Given the description of an element on the screen output the (x, y) to click on. 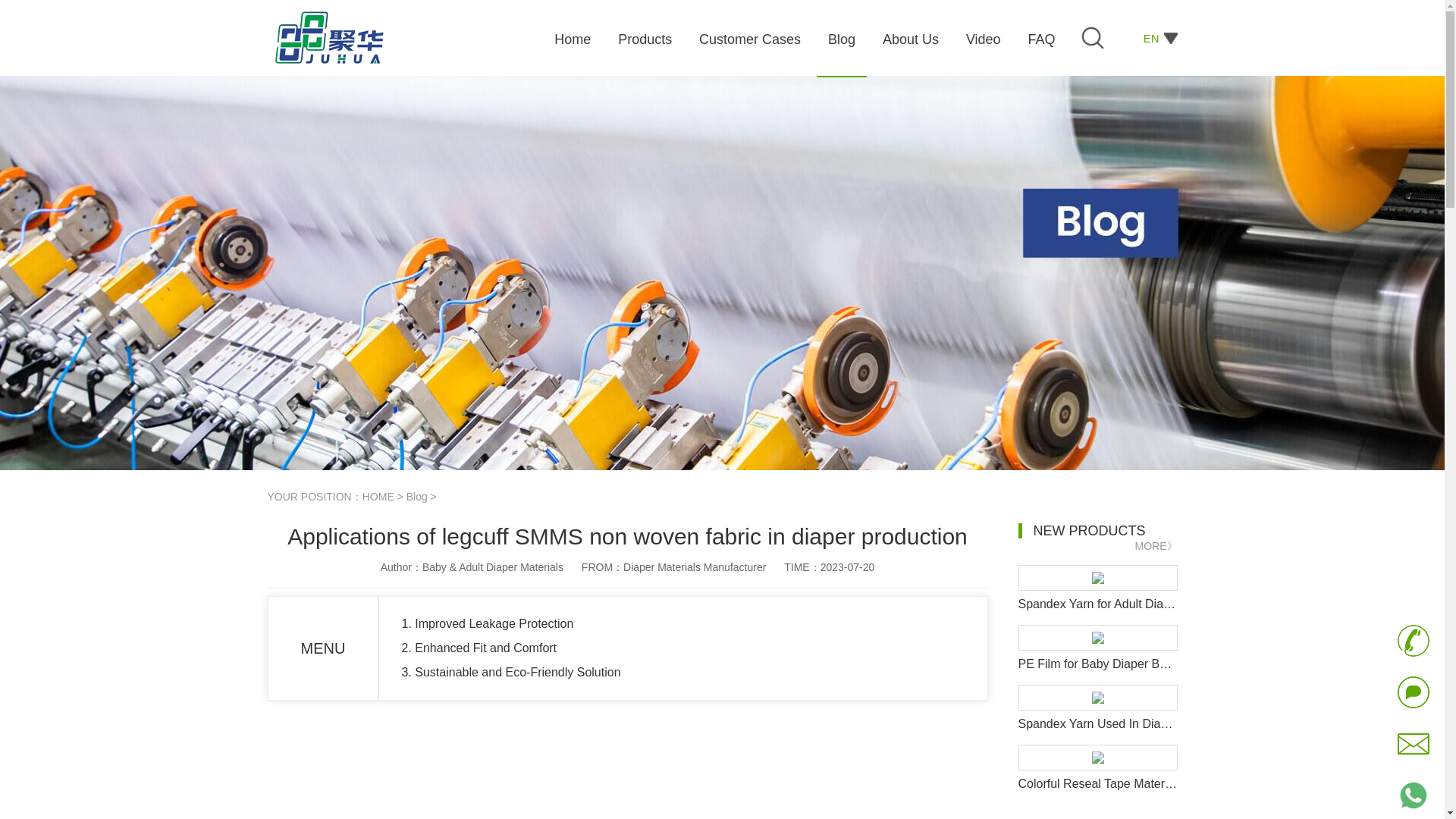
Customer Cases (751, 43)
About Us (912, 43)
FAQ (1042, 43)
Video (985, 43)
1. Improved Leakage Protection (487, 623)
HOME (378, 496)
3. Sustainable and Eco-Friendly Solution (511, 671)
2. Enhanced Fit and Comfort (479, 647)
Products (646, 43)
Home (574, 43)
Blog (417, 496)
Blog (843, 43)
